Given the description of an element on the screen output the (x, y) to click on. 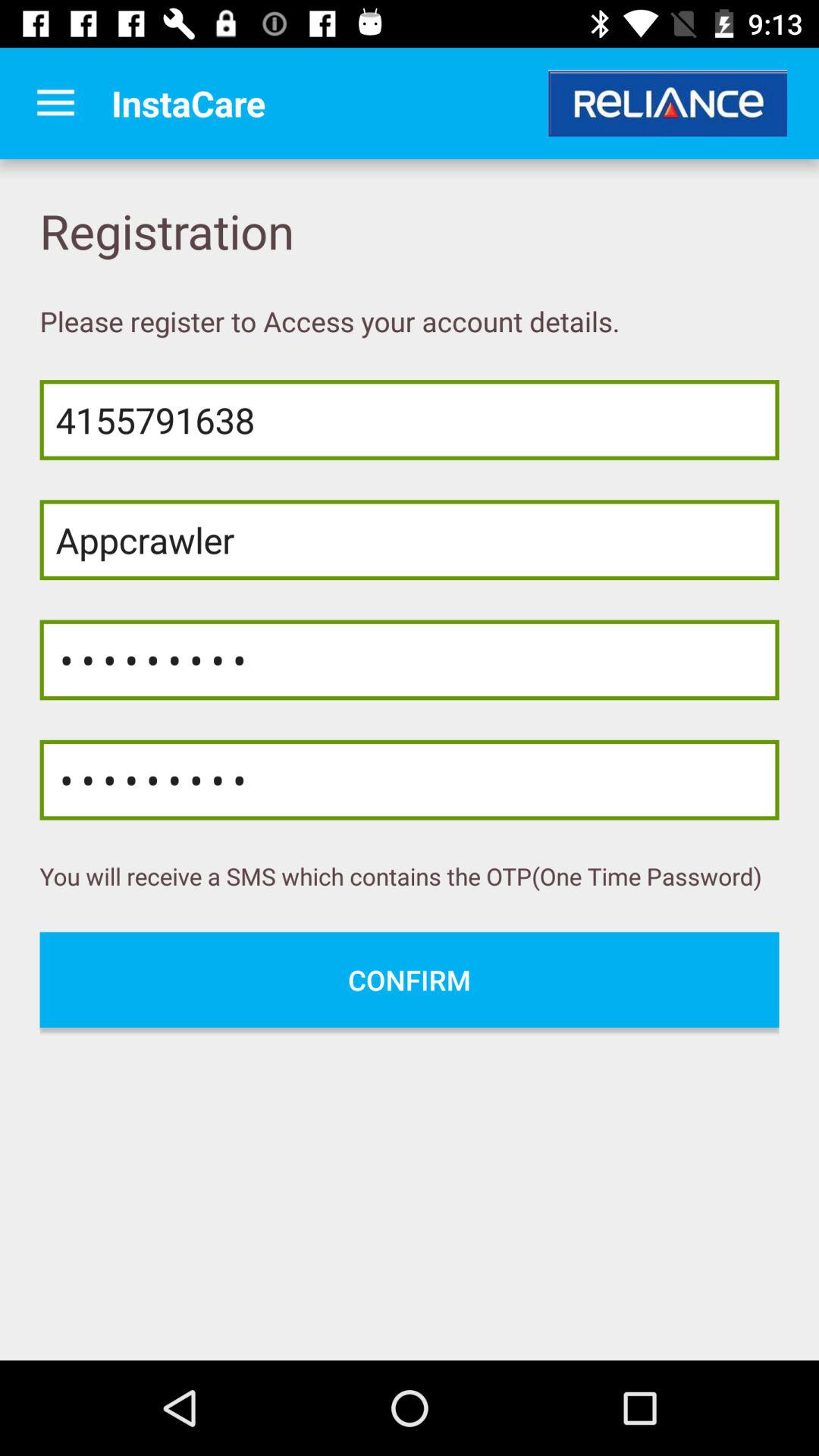
open icon below 4155791638 icon (409, 539)
